Given the description of an element on the screen output the (x, y) to click on. 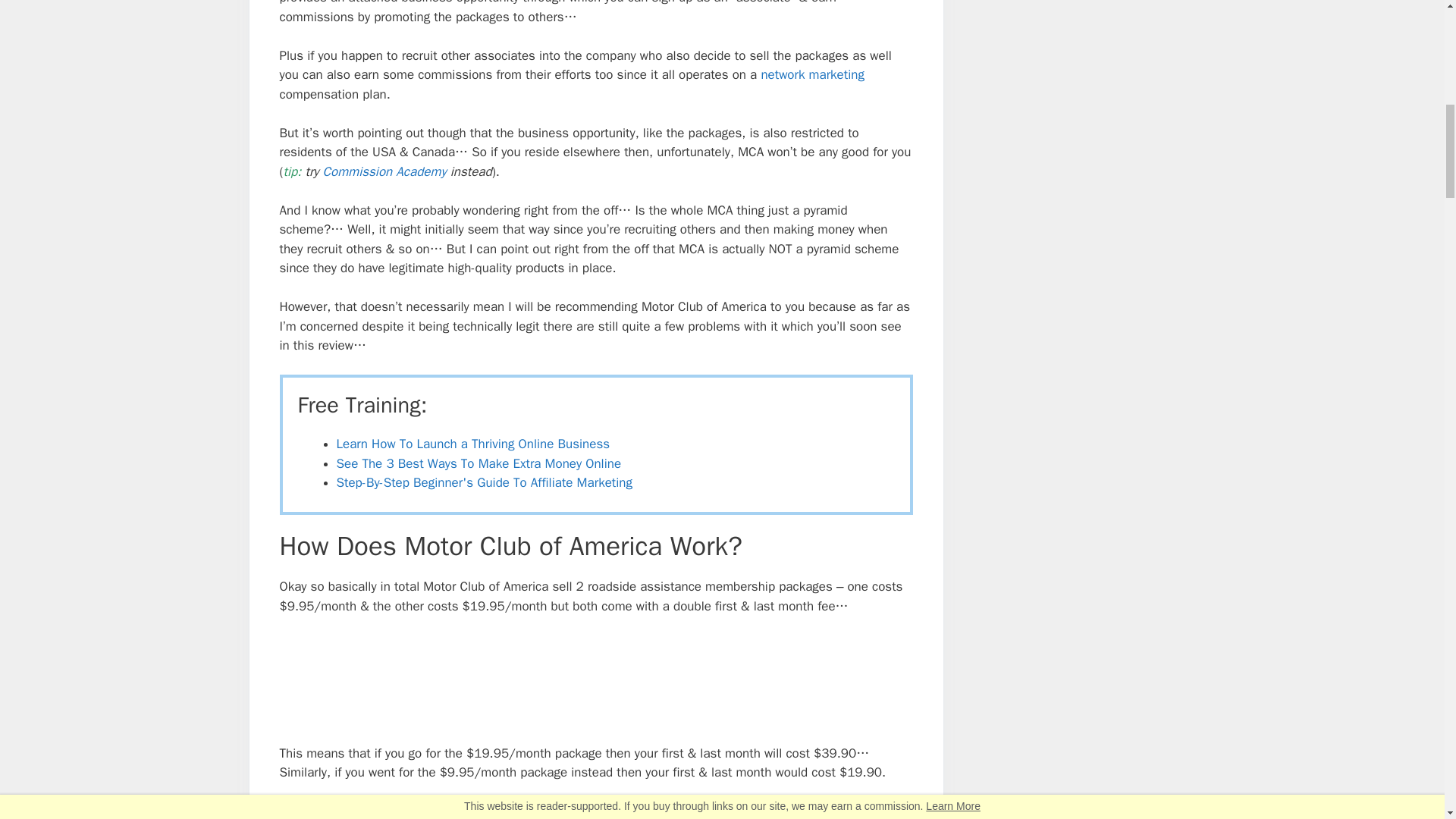
Commission Academy (384, 171)
network marketing (812, 74)
Learn How To Launch a Thriving Online Business (473, 443)
See The 3 Best Ways To Make Extra Money Online (478, 463)
Step-By-Step Beginner's Guide To Affiliate Marketing (483, 482)
